Given the description of an element on the screen output the (x, y) to click on. 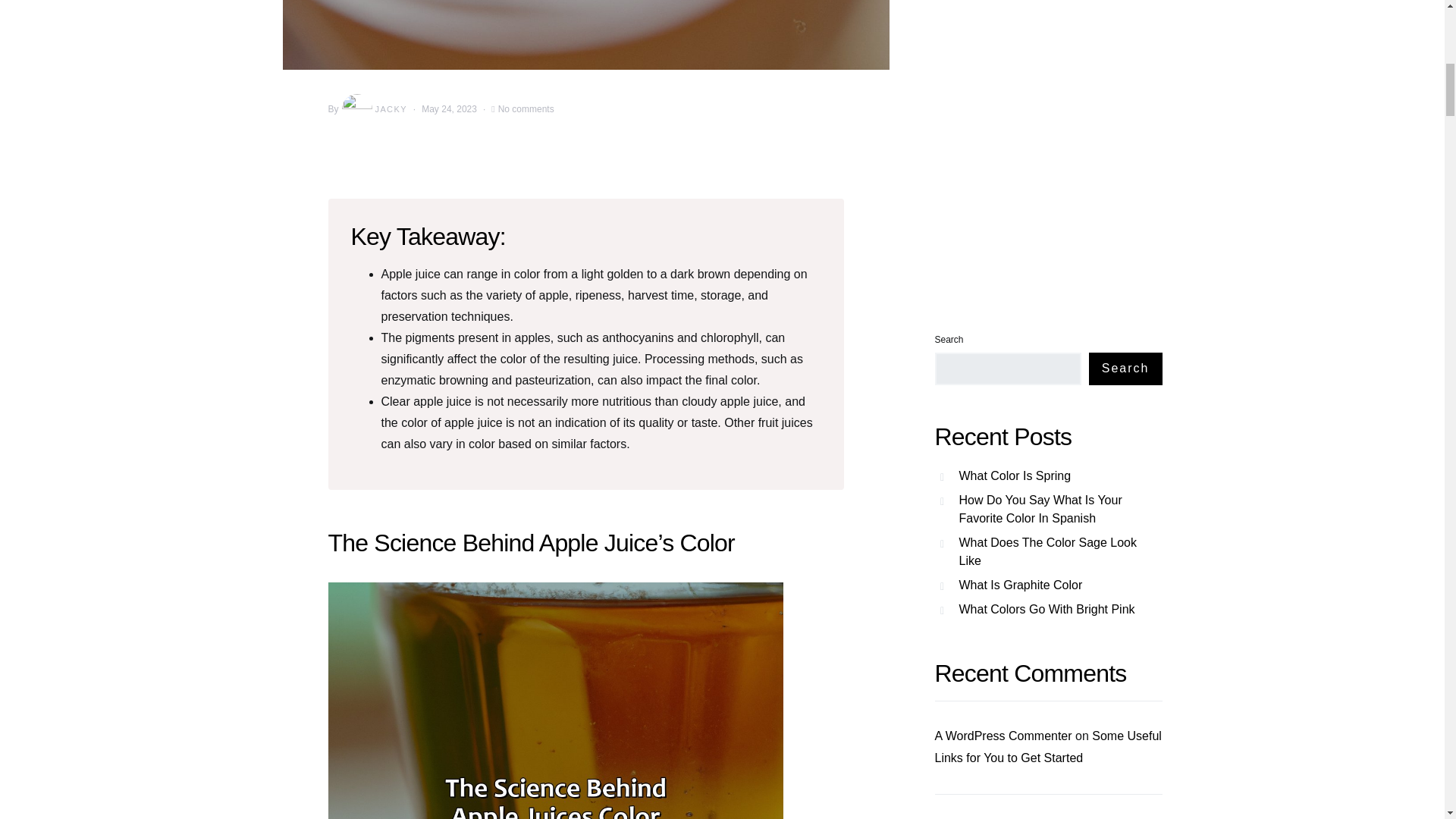
No comments (525, 109)
View all posts by Jacky (373, 109)
JACKY (373, 109)
